Given the description of an element on the screen output the (x, y) to click on. 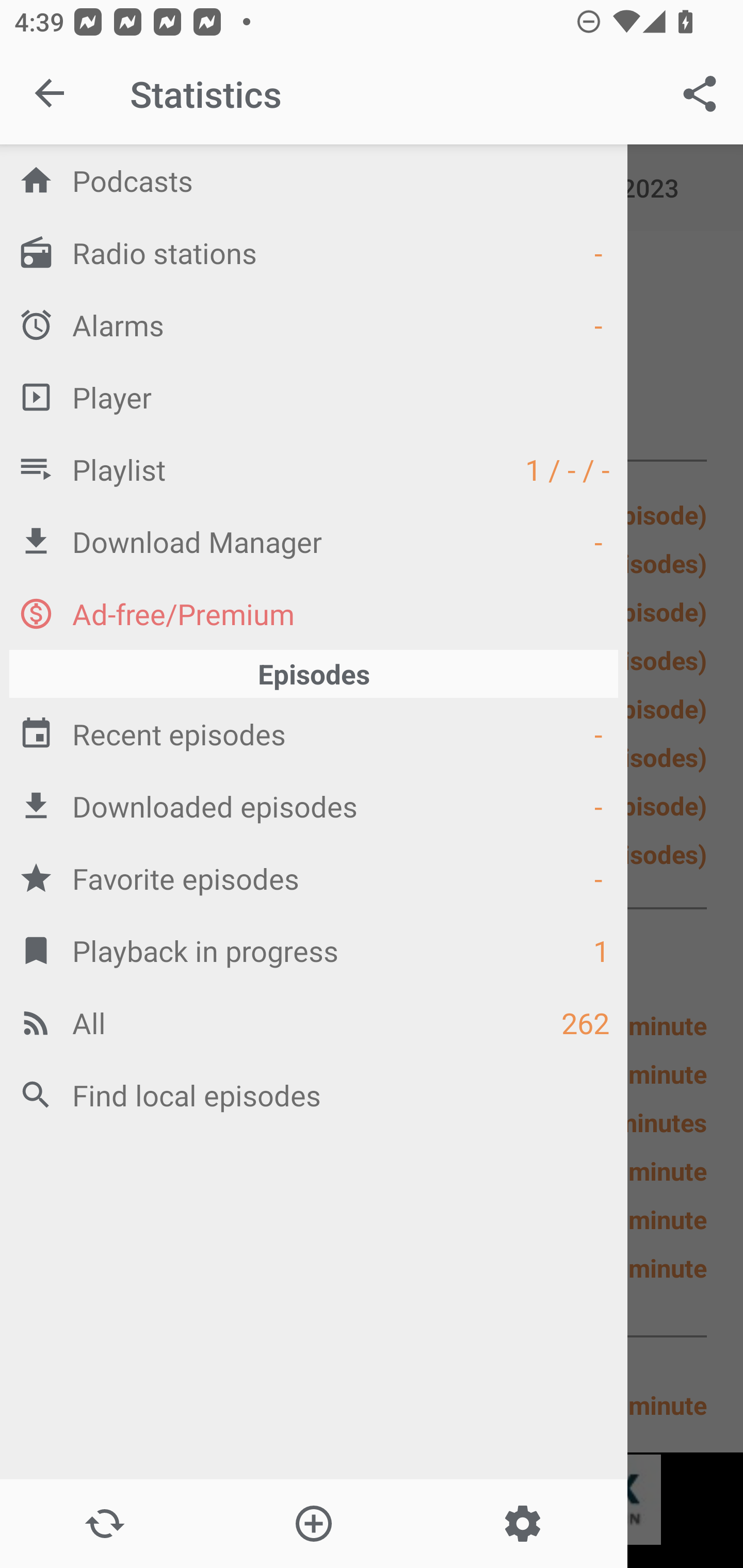
Close navigation sidebar (50, 93)
Share (699, 93)
Podcasts (313, 180)
Radio stations  -  (313, 252)
Alarms  -  (313, 324)
Player (313, 396)
Playlist 1 / - / - (313, 468)
Download Manager  -  (313, 540)
Ad-free/Premium (313, 613)
Recent episodes  -  (313, 733)
Downloaded episodes  -  (313, 805)
Favorite episodes  -  (313, 878)
Playback in progress 1 (313, 950)
All 262 (313, 1022)
Find local episodes (313, 1094)
Update (104, 1523)
Add new Podcast (312, 1523)
Settings (522, 1523)
